Given the description of an element on the screen output the (x, y) to click on. 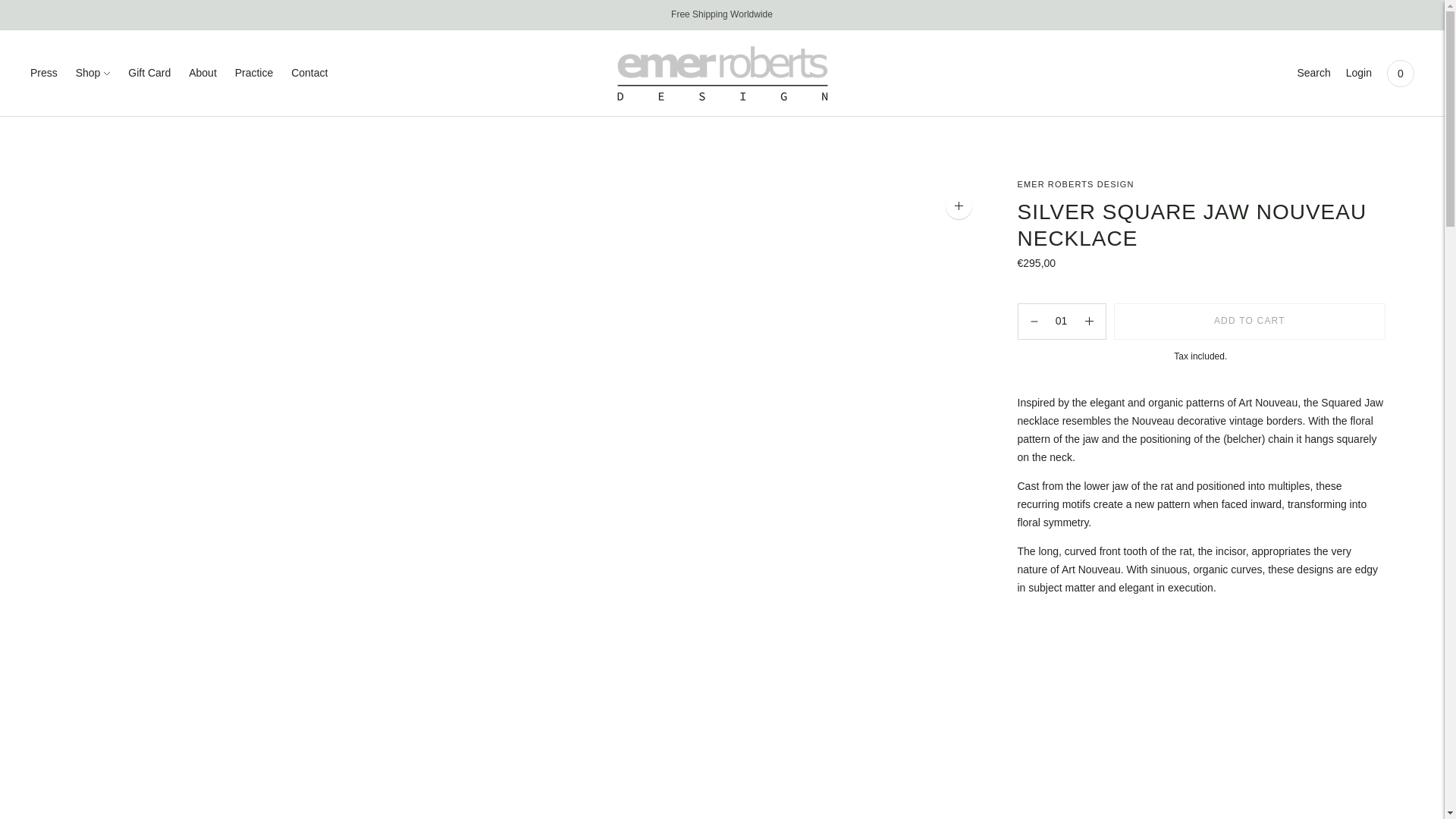
Practice (253, 72)
Shop (92, 72)
Contact (309, 72)
01 (1061, 321)
Gift Card (149, 72)
Emer Roberts Design (1075, 184)
